Given the description of an element on the screen output the (x, y) to click on. 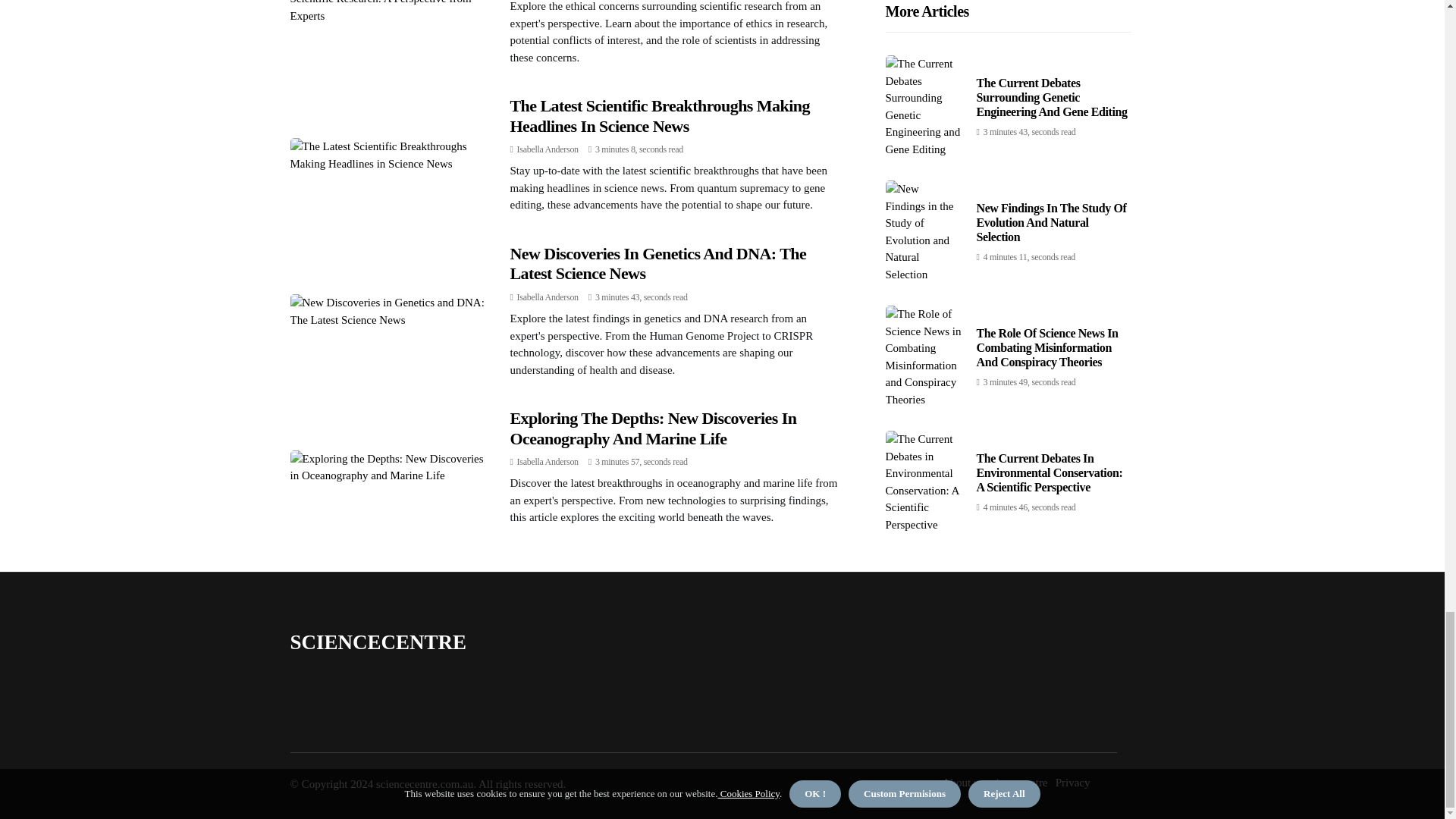
Posts by Isabella Anderson (547, 296)
Isabella Anderson (547, 149)
Isabella Anderson (547, 461)
Posts by Isabella Anderson (547, 149)
New Discoveries In Genetics And DNA: The Latest Science News (657, 263)
Posts by Isabella Anderson (547, 461)
Isabella Anderson (547, 296)
